Given the description of an element on the screen output the (x, y) to click on. 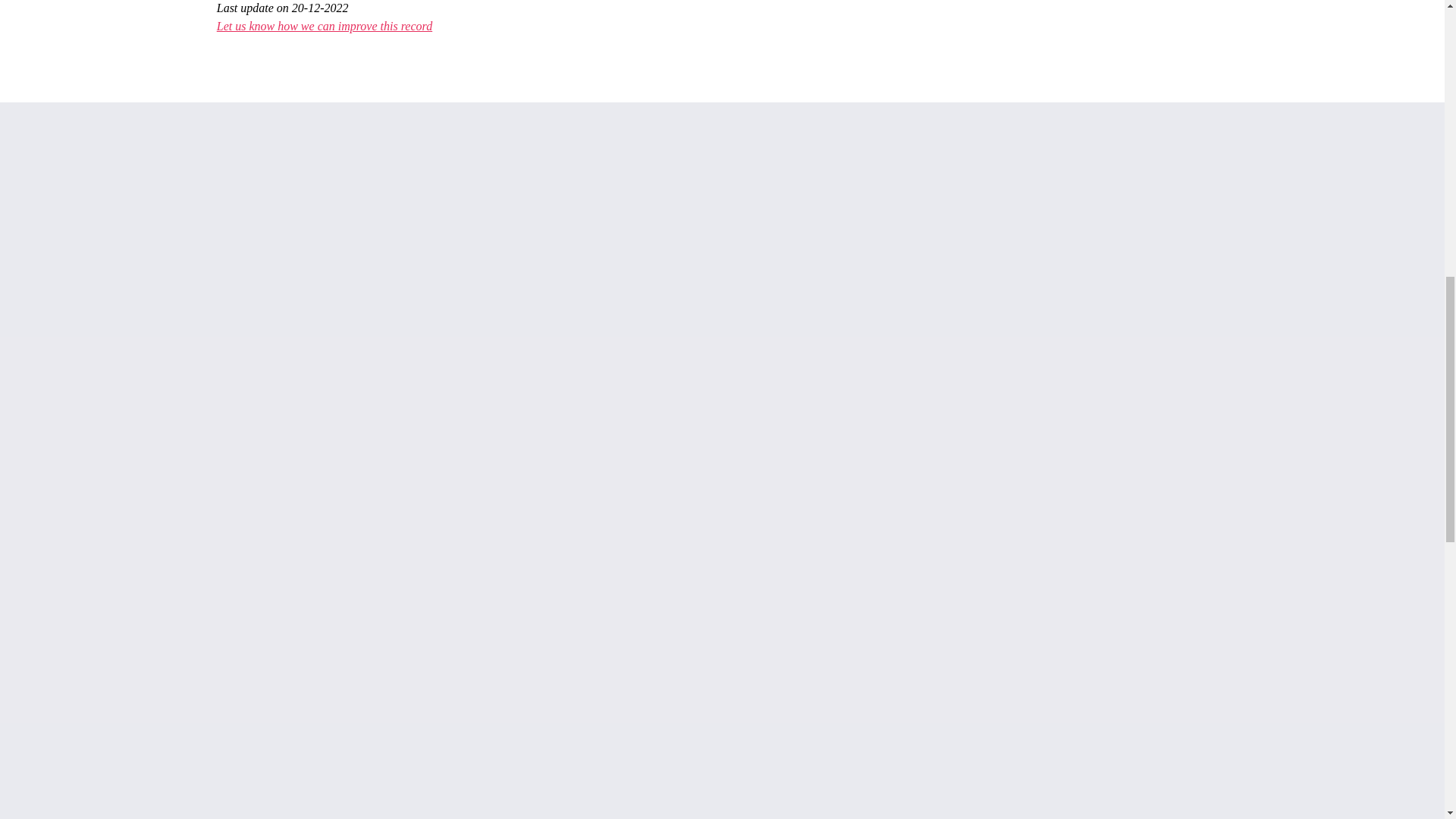
Let us know how we can improve this record (324, 25)
